Given the description of an element on the screen output the (x, y) to click on. 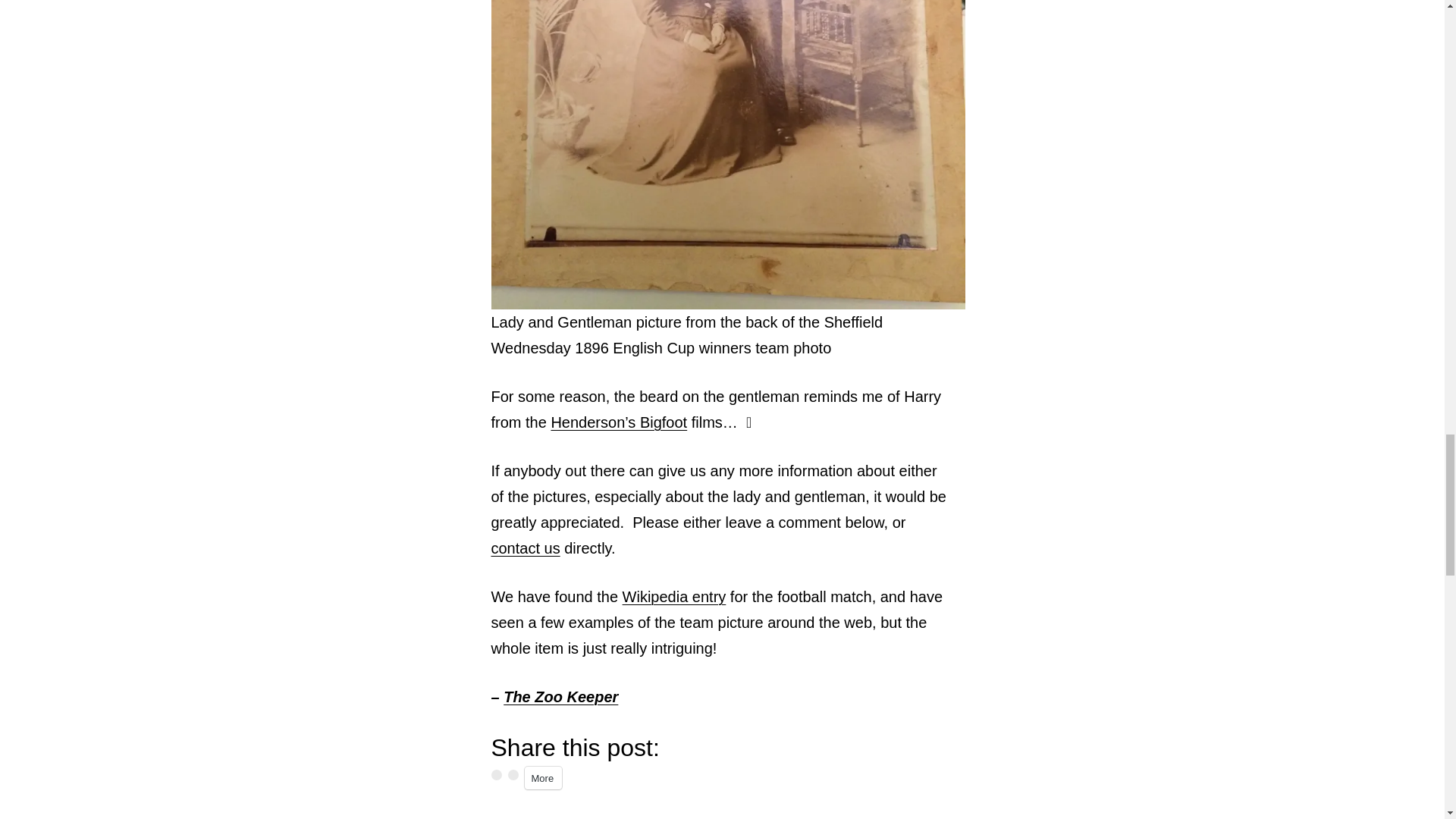
More (543, 777)
Contact (526, 547)
The Zoo Keeper (560, 696)
The Zoo Keeper (560, 696)
contact us (526, 547)
Harry and the Hendersons on IMDB (618, 422)
Click to share on Twitter (513, 774)
Click to share on Facebook (497, 774)
Wikipedia entry (674, 596)
1896 English Cup on Wikipedia (674, 596)
